Given the description of an element on the screen output the (x, y) to click on. 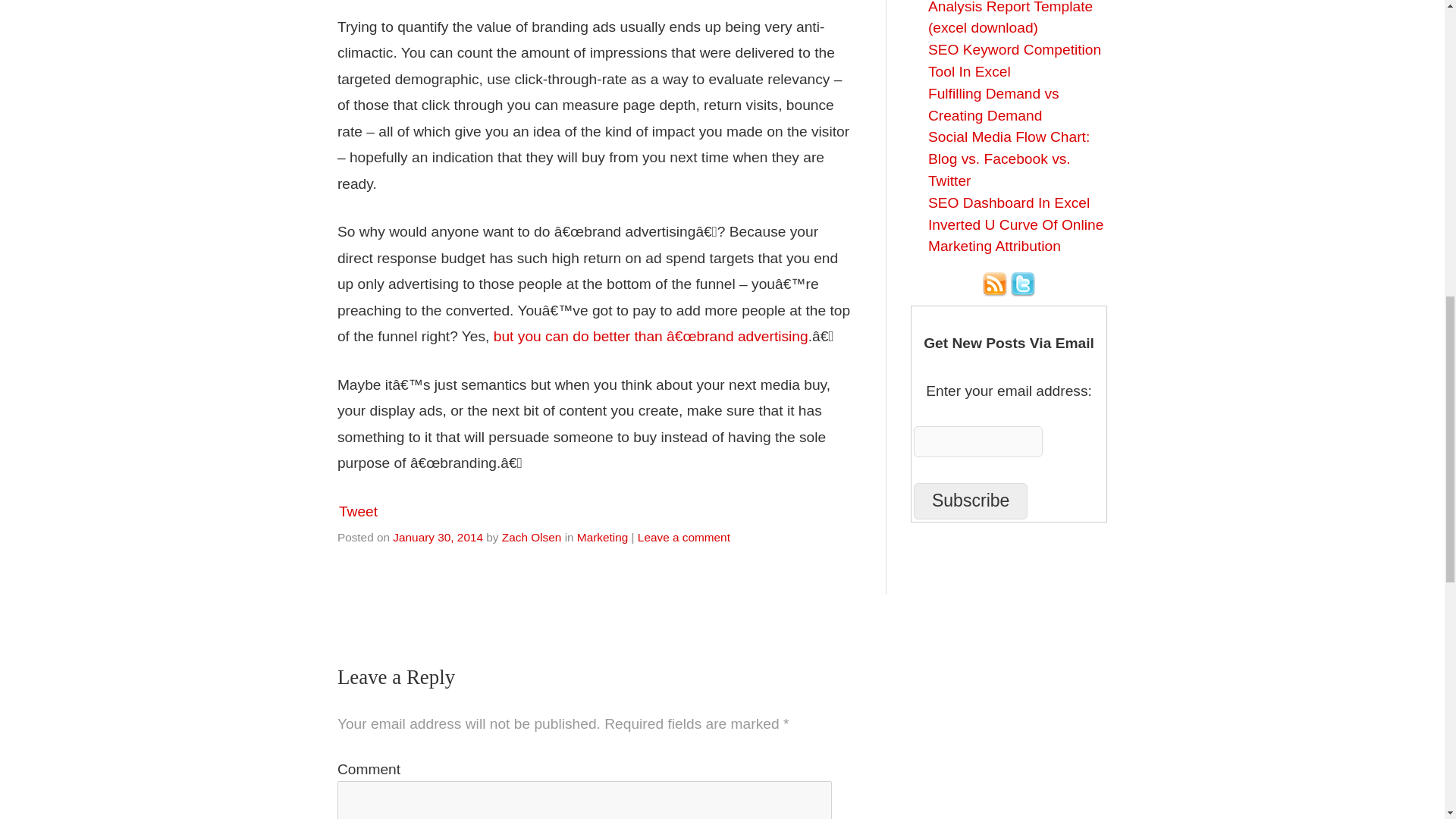
Leave a comment (683, 536)
SEO Dashboard In Excel (1008, 202)
SEO Dashboard In Excel (1008, 202)
SEO Keyword Competition Tool In Excel (1014, 60)
Marketing (601, 536)
Inverted U Curve Of Online Marketing Attribution (1015, 235)
Social Media Flow Chart: Blog vs. Facebook vs. Twitter (1008, 158)
SEO Keyword Competition Tool In Excel (1014, 60)
January 30, 2014 (438, 536)
Subscribe (970, 500)
